Given the description of an element on the screen output the (x, y) to click on. 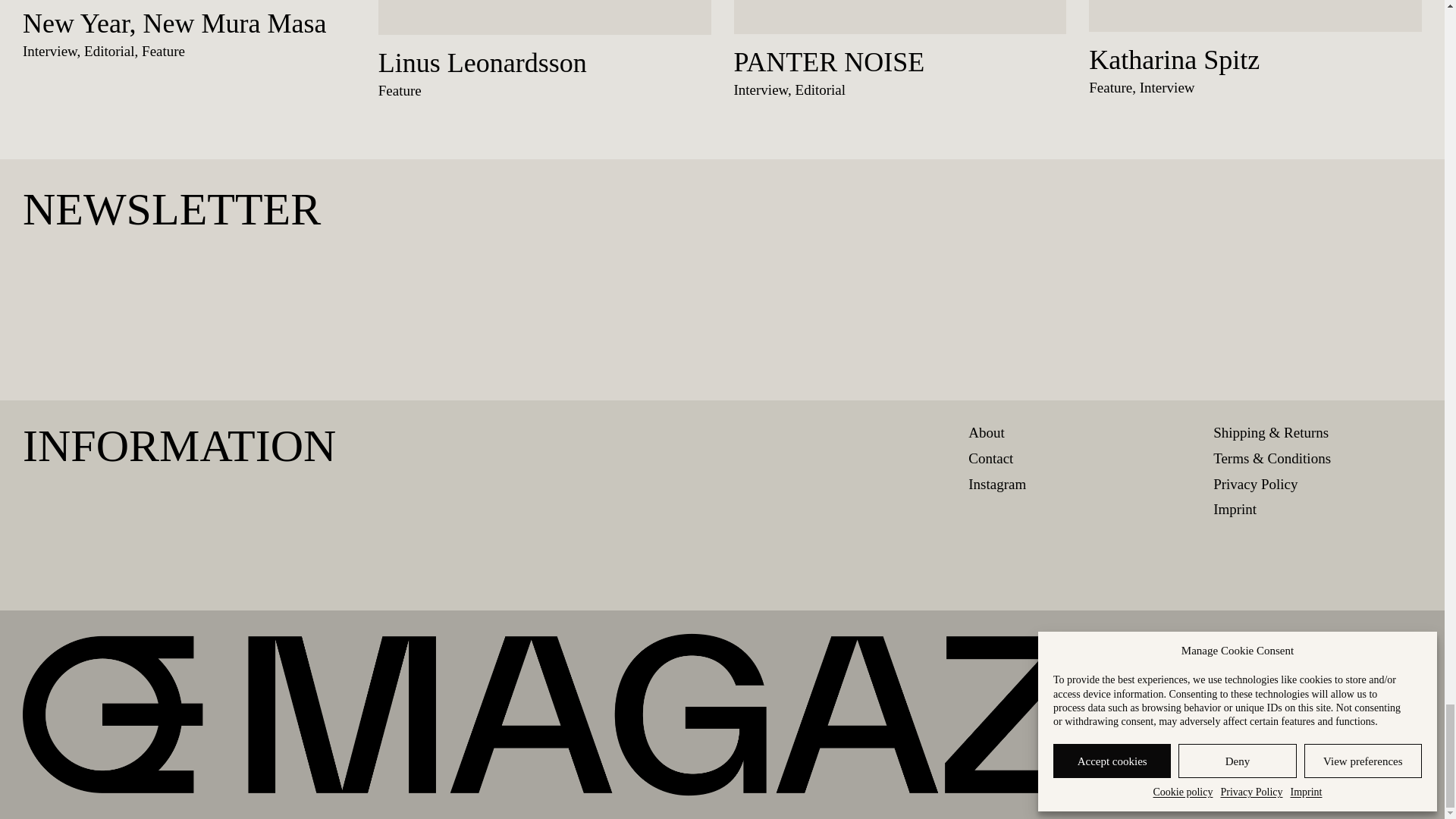
Katharina Spitz (1174, 59)
New Year, New Mura Masa (174, 23)
PANTER NOISE (828, 61)
Linus Leonardsson (482, 62)
